Given the description of an element on the screen output the (x, y) to click on. 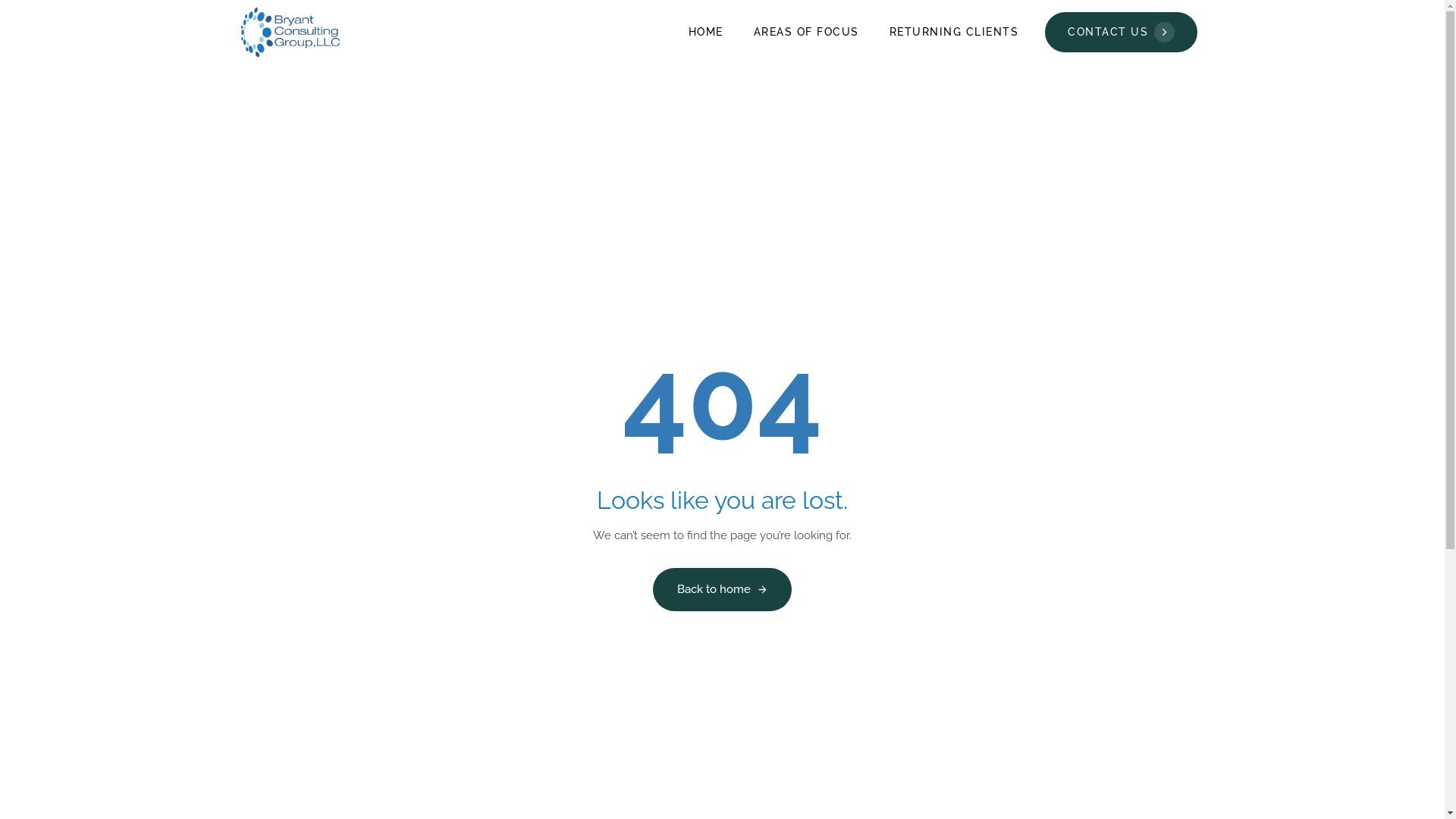
HOME Element type: text (705, 31)
Back to home Element type: text (721, 588)
CONTACT US Element type: text (1120, 32)
RETURNING CLIENTS Element type: text (954, 31)
AREAS OF FOCUS Element type: text (806, 31)
